Given the description of an element on the screen output the (x, y) to click on. 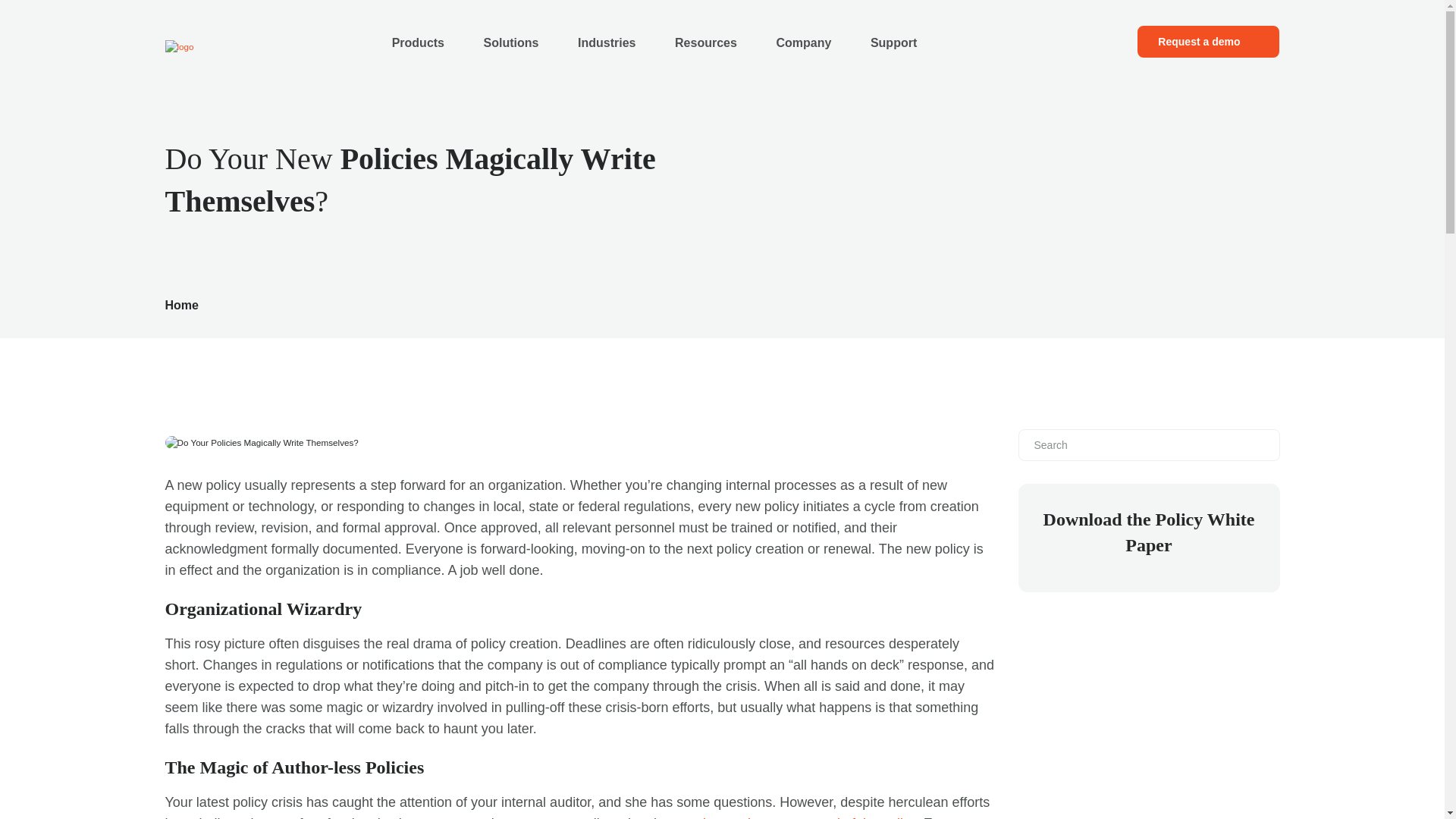
Resources (705, 43)
Industries (606, 43)
Solutions (510, 43)
logo (179, 46)
Company (803, 43)
Products (417, 43)
